Given the description of an element on the screen output the (x, y) to click on. 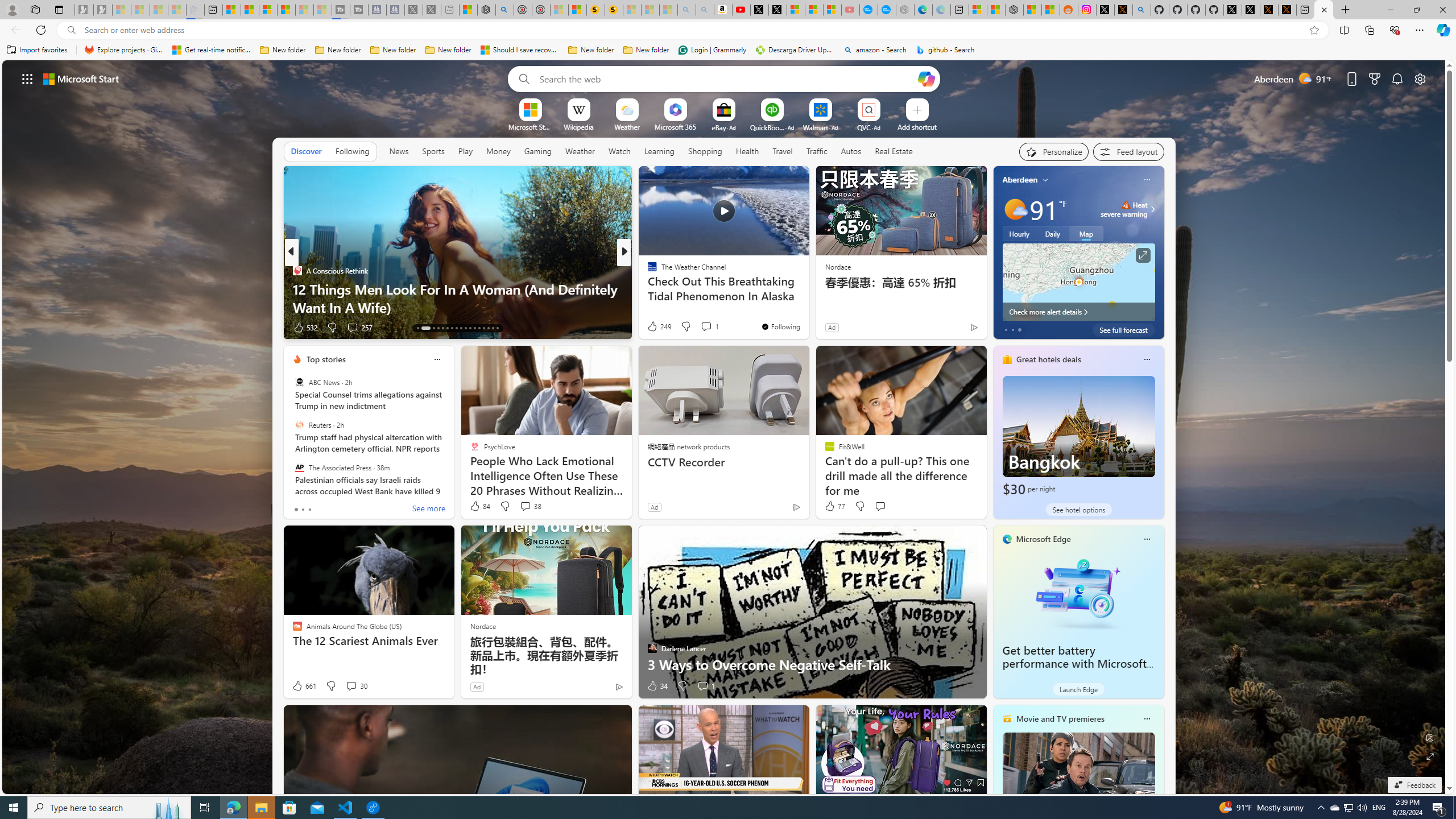
Traffic (816, 151)
Gaming (537, 151)
Profile / X (1232, 9)
Fast Company (647, 270)
Heat - Severe (1126, 204)
217 Like (654, 327)
Newsletter Sign Up - Sleeping (102, 9)
View comments 1 Comment (703, 685)
